Given the description of an element on the screen output the (x, y) to click on. 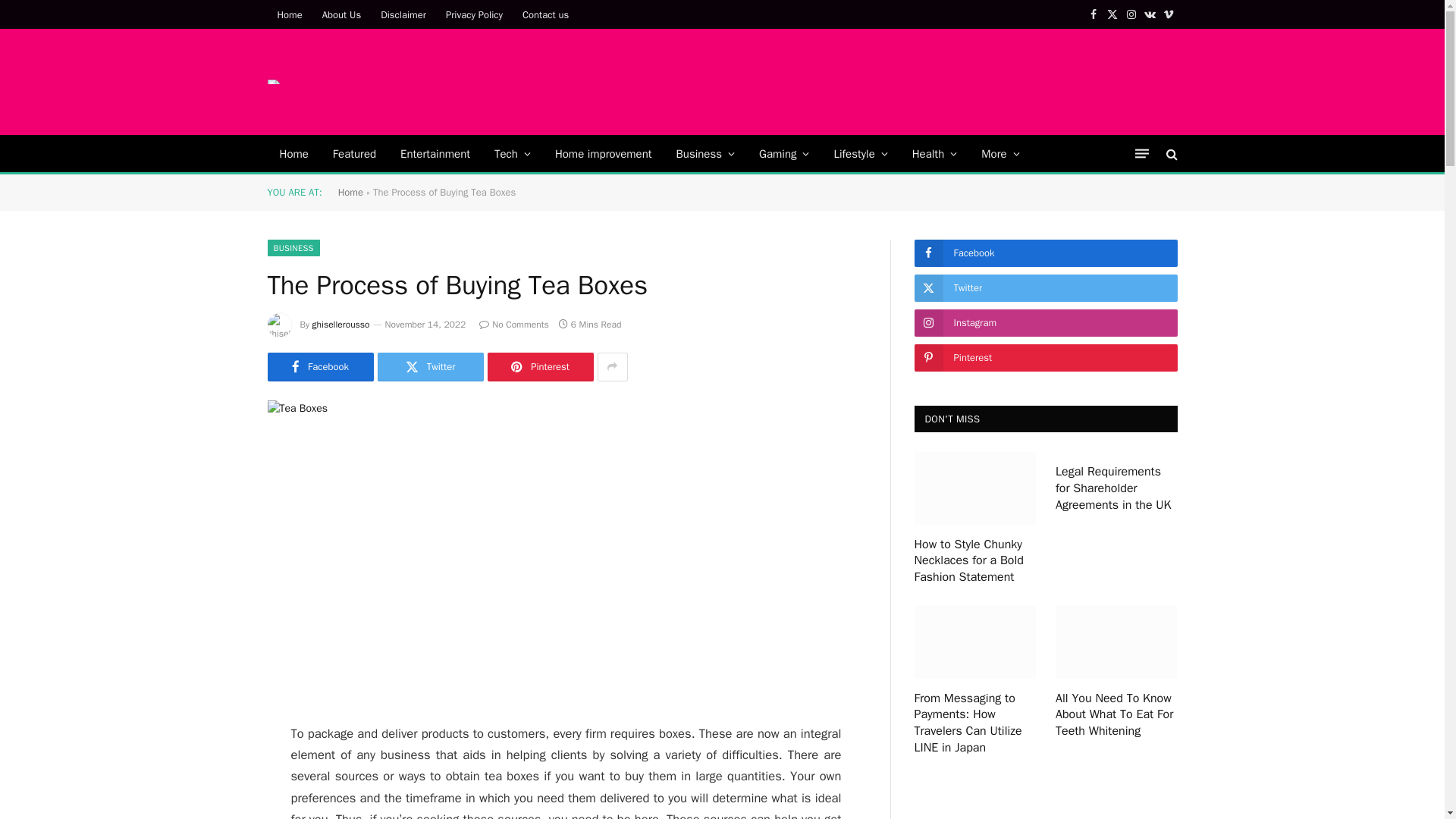
Disclaimer (403, 14)
Tech (512, 153)
Home improvement (603, 153)
Home (288, 14)
Gaming (783, 153)
Show More Social Sharing (611, 366)
Home (293, 153)
Lifestyle (860, 153)
Health (934, 153)
Featured (354, 153)
